Given the description of an element on the screen output the (x, y) to click on. 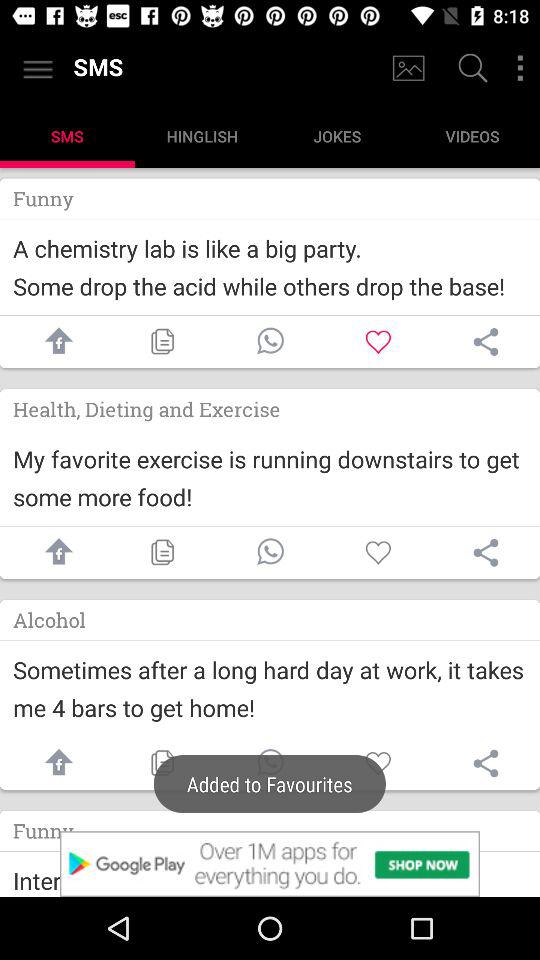
added to favourites (270, 763)
